Given the description of an element on the screen output the (x, y) to click on. 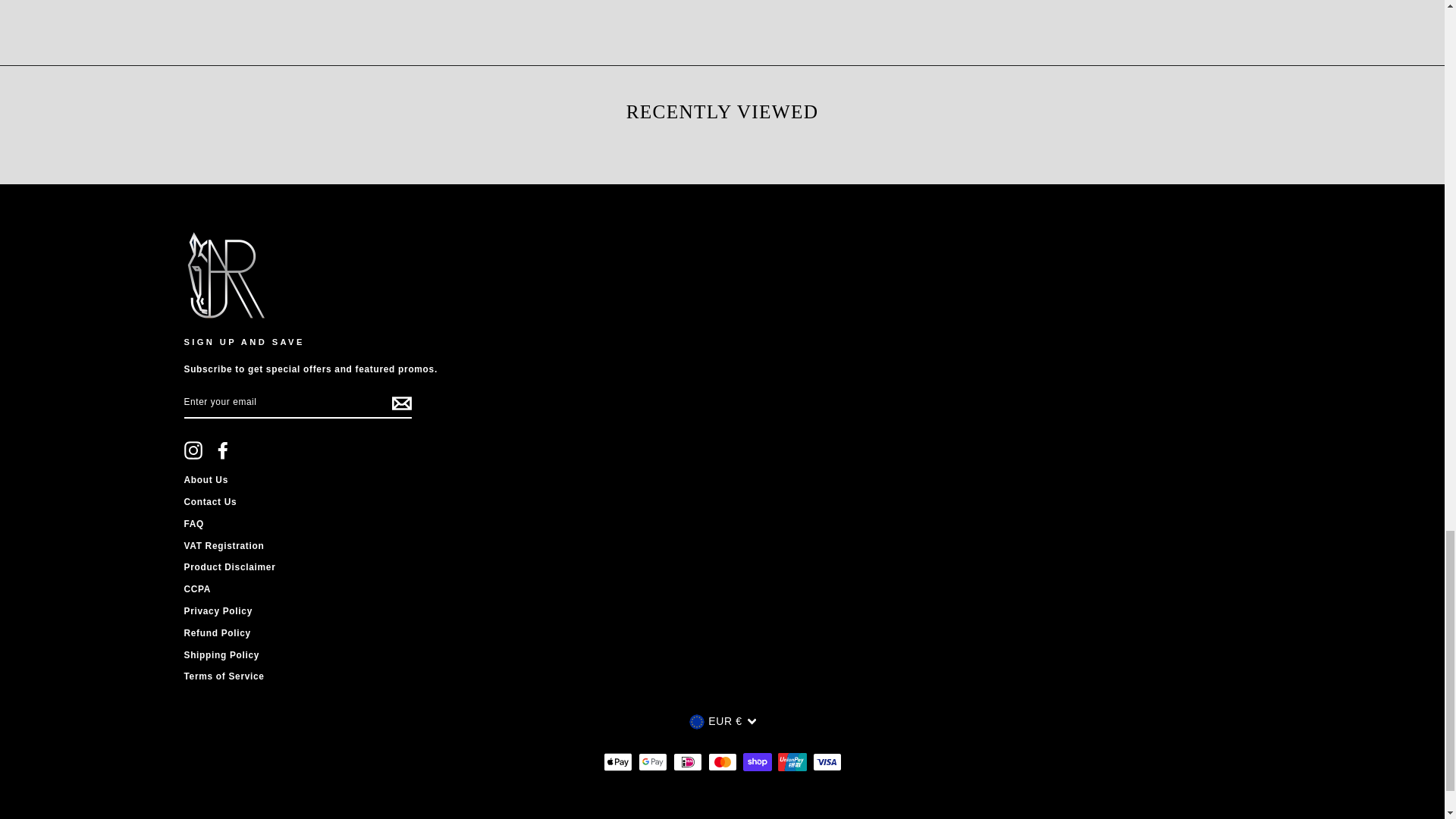
AJR Sport on Facebook (222, 450)
Apple Pay (617, 761)
Visa (826, 761)
AJR Sport on Instagram (192, 450)
iDEAL (686, 761)
Shop Pay (756, 761)
Google Pay (652, 761)
Mastercard (721, 761)
Union Pay (791, 761)
